Given the description of an element on the screen output the (x, y) to click on. 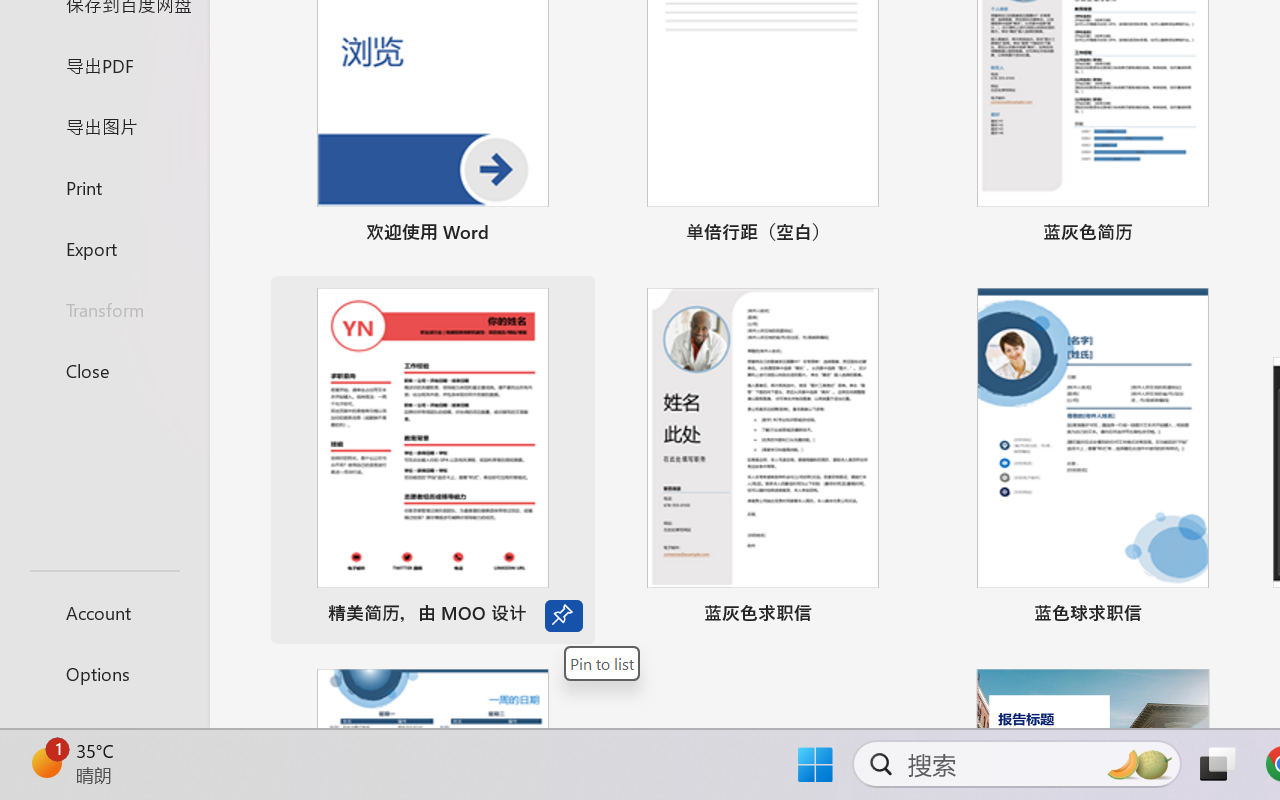
Transform (104, 309)
